Given the description of an element on the screen output the (x, y) to click on. 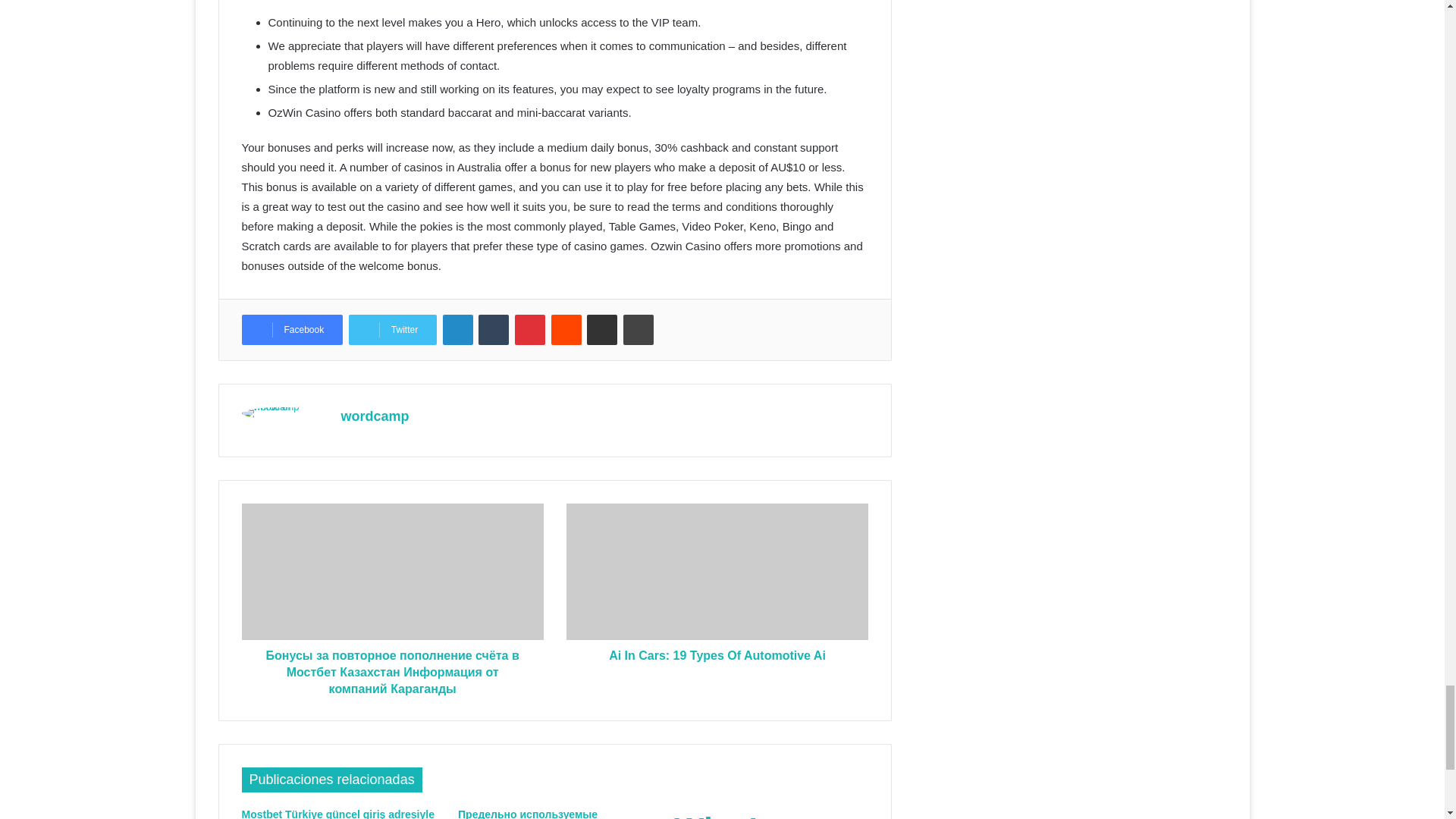
Facebook (291, 329)
Reddit (565, 329)
Tumblr (493, 329)
Twitter (392, 329)
Pinterest (529, 329)
LinkedIn (457, 329)
